Given the description of an element on the screen output the (x, y) to click on. 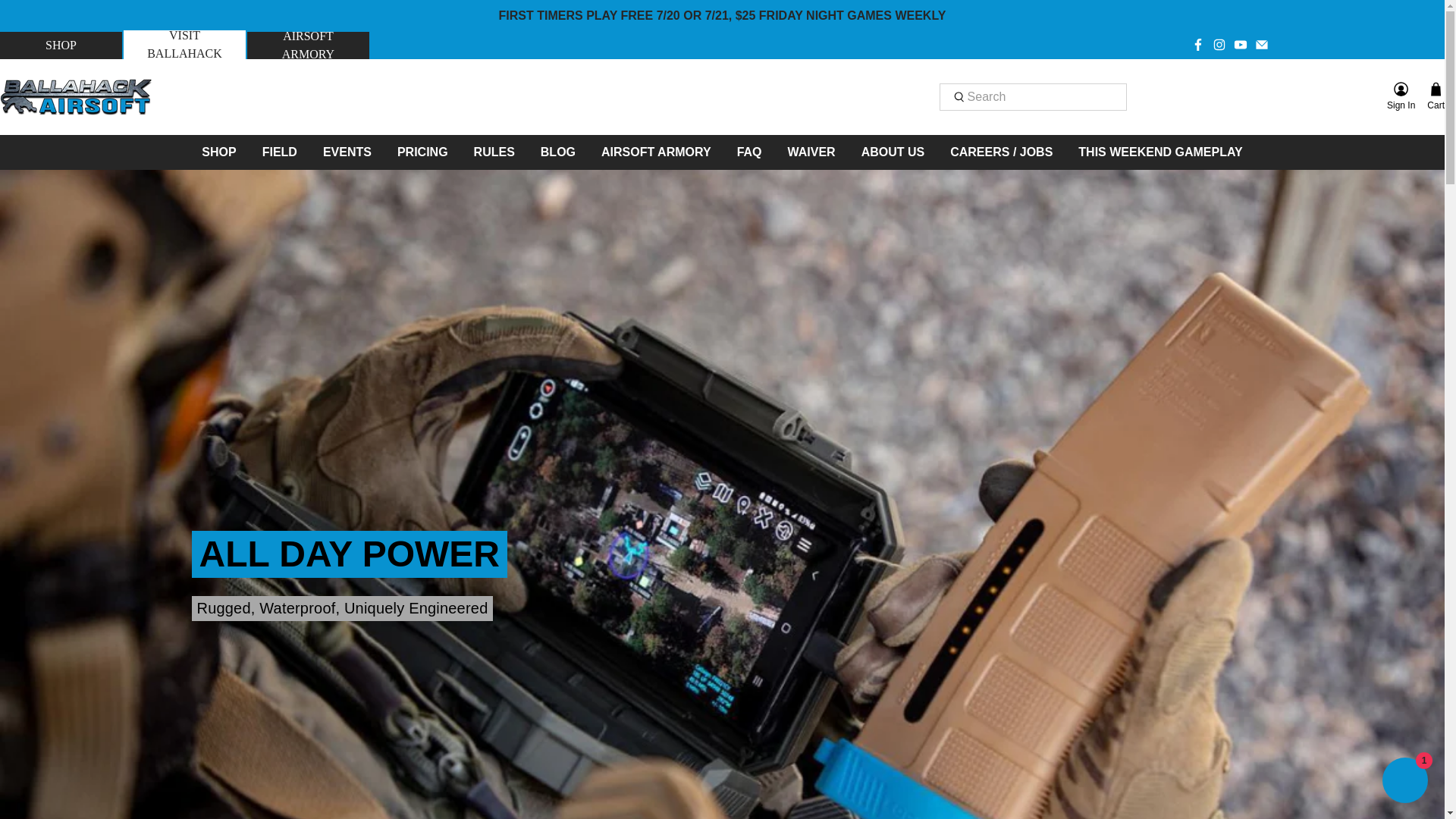
PRICING (422, 152)
SHOP (218, 152)
Email Ballahack Airsoft  (1260, 44)
THIS WEEKEND GAMEPLAY (1159, 152)
BLOG (558, 152)
Ballahack Airsoft  on YouTube (1239, 44)
Sign In (1400, 97)
EVENTS (347, 152)
FAQ (749, 152)
RULES (494, 152)
SHOP (61, 44)
WAIVER (811, 152)
ABOUT US (892, 152)
Ballahack Airsoft  on Instagram (1218, 44)
AIRSOFT ARMORY (656, 152)
